Given the description of an element on the screen output the (x, y) to click on. 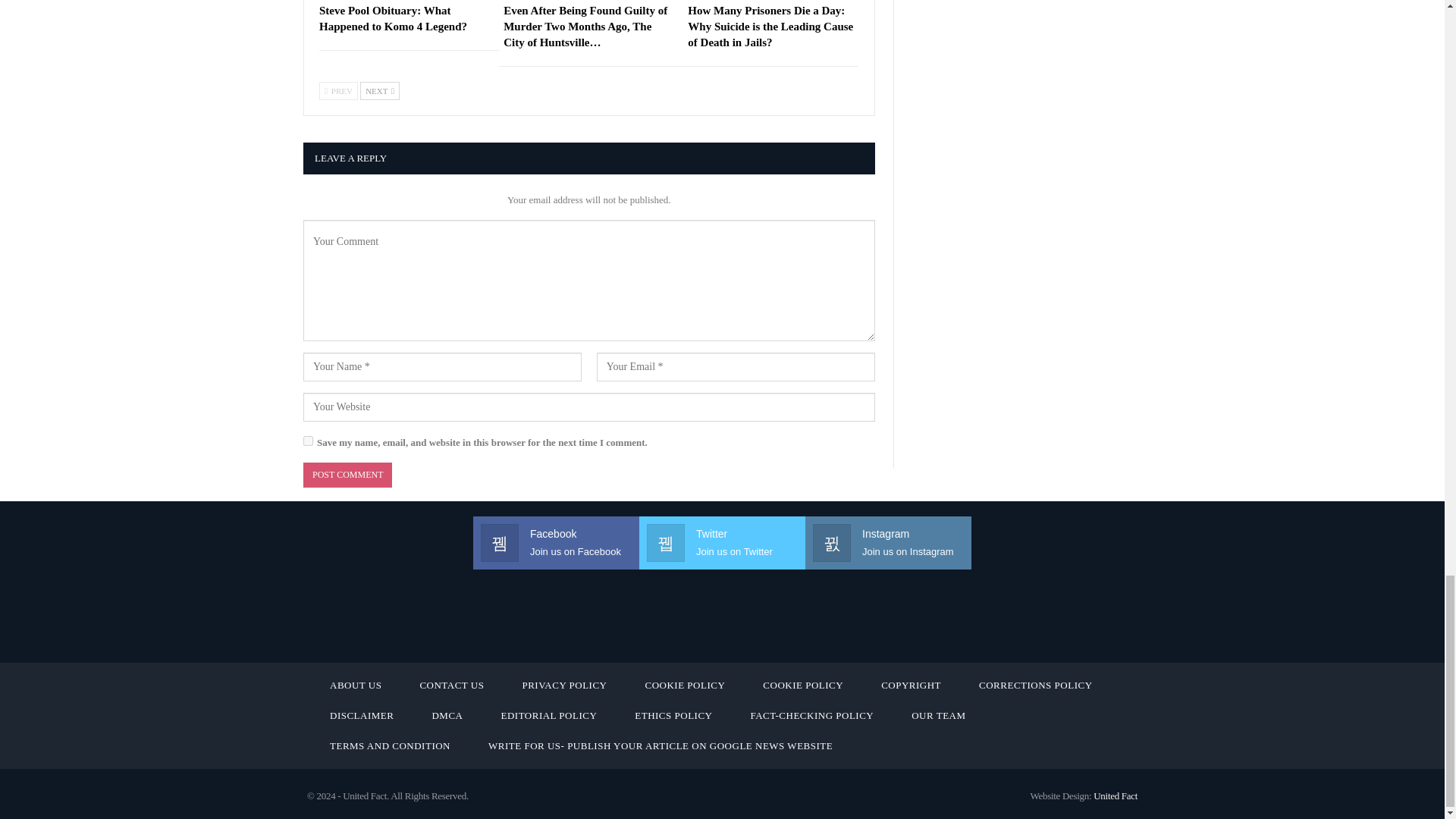
Next (378, 90)
Previous (338, 90)
yes (307, 440)
Steve Pool Obituary: What Happened to Komo 4 Legend? (392, 18)
Post Comment (346, 474)
